Given the description of an element on the screen output the (x, y) to click on. 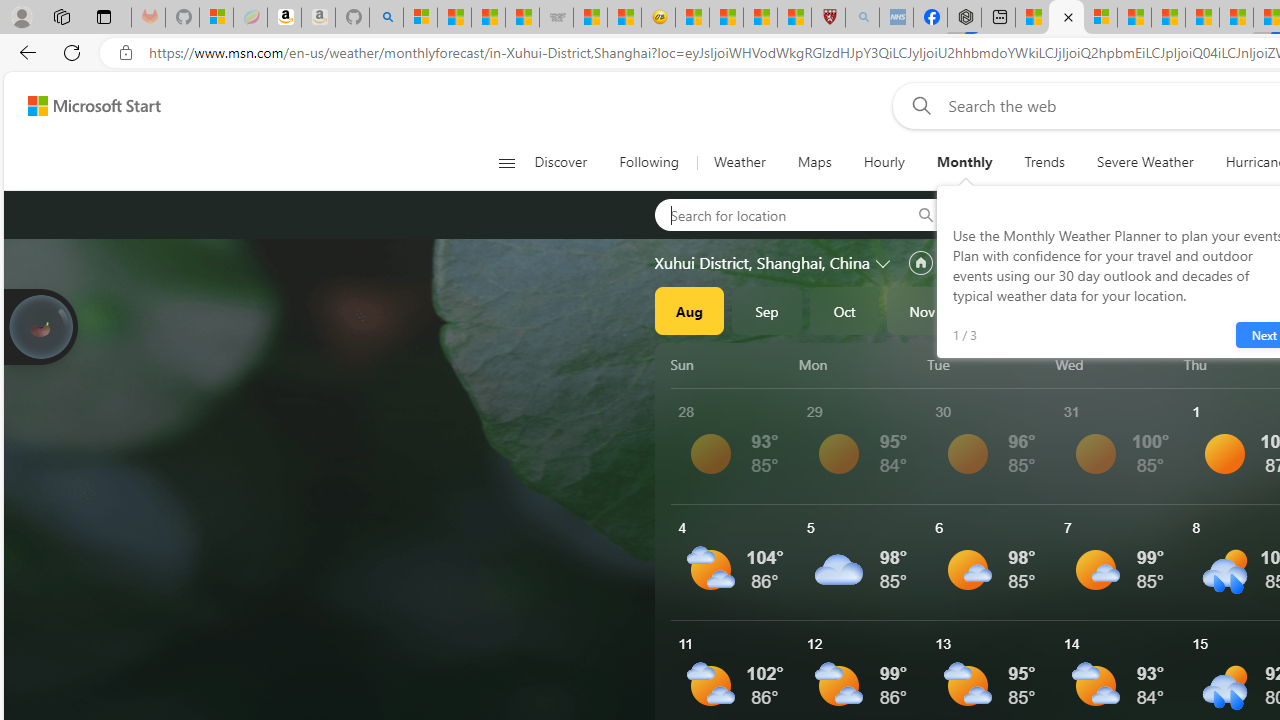
Mar (1233, 310)
Skip to footer (82, 105)
Mar (1233, 310)
Weather (739, 162)
Hourly (883, 162)
Trends (1044, 162)
Search for location (776, 214)
Recipes - MSN (692, 17)
